Given the description of an element on the screen output the (x, y) to click on. 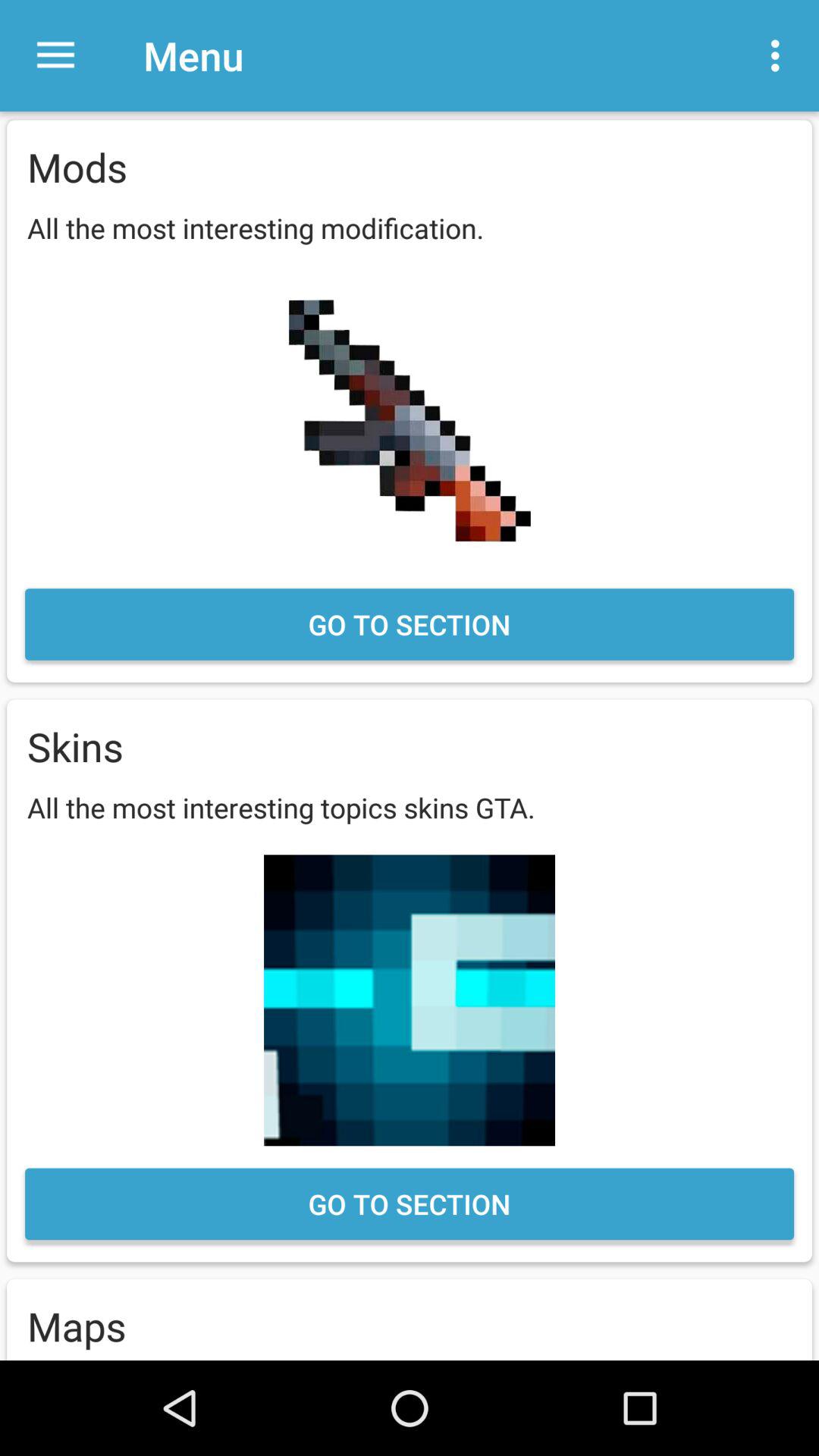
tap icon at the top right corner (779, 55)
